Given the description of an element on the screen output the (x, y) to click on. 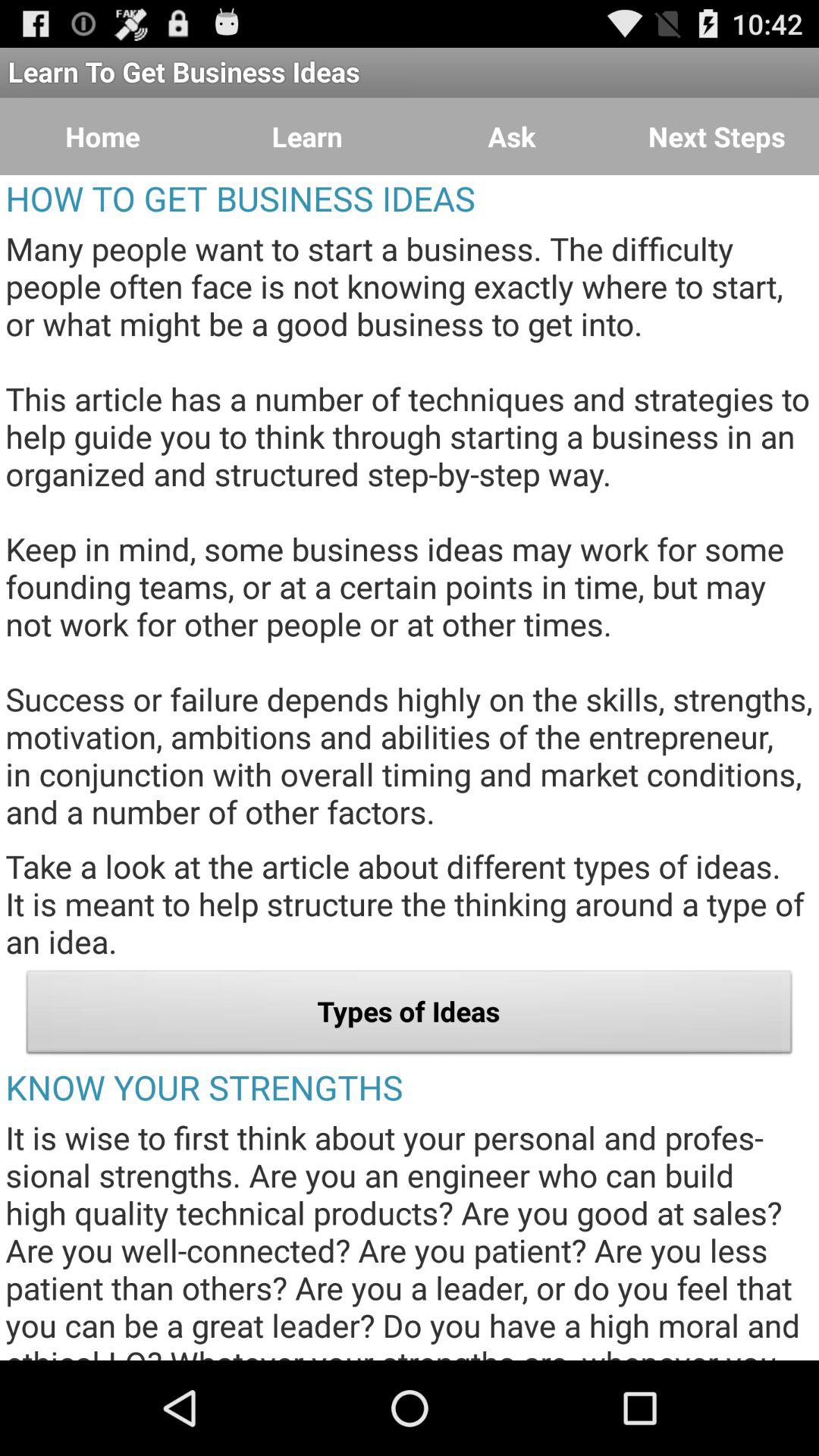
open button to the right of ask icon (716, 136)
